Given the description of an element on the screen output the (x, y) to click on. 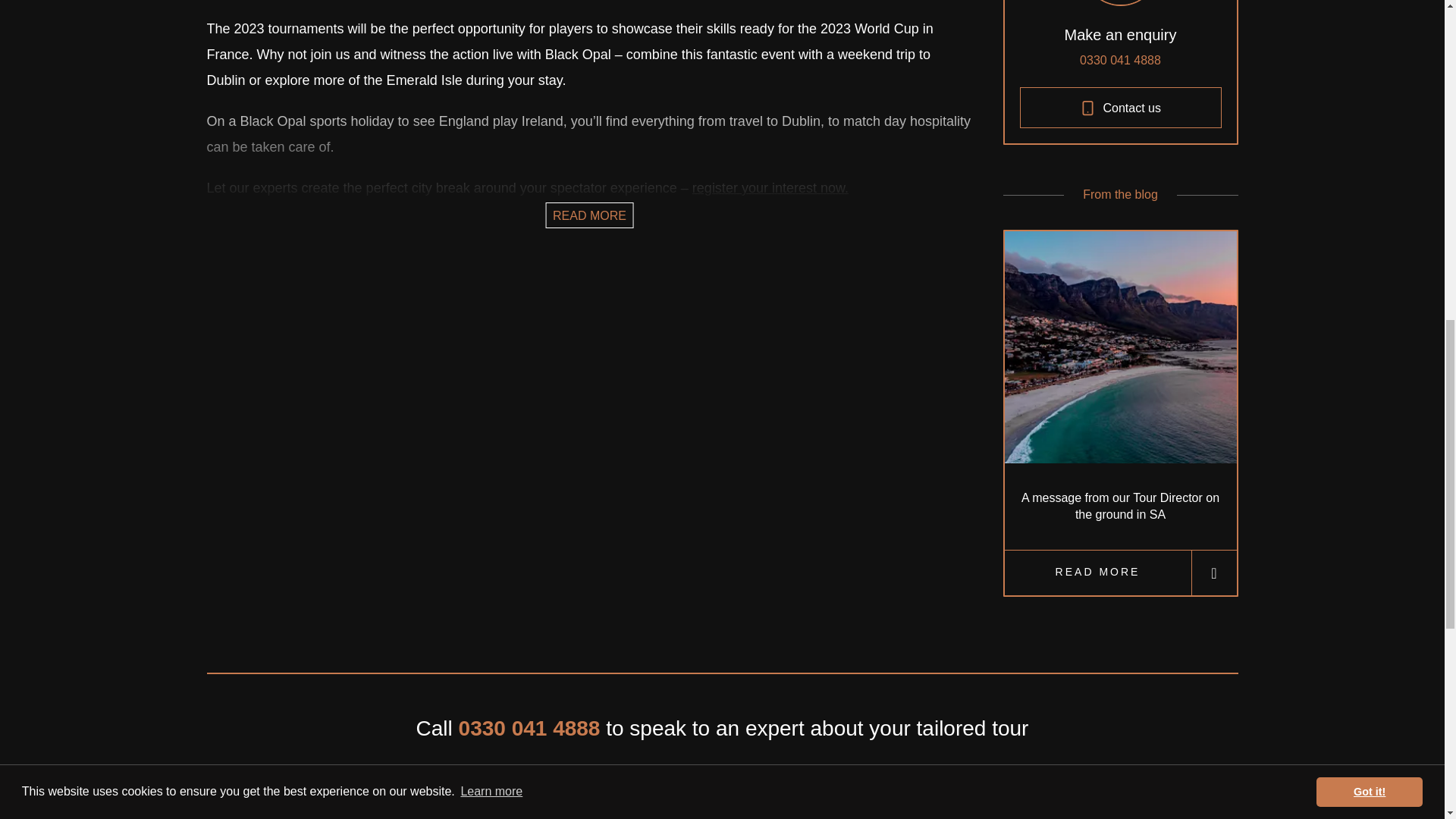
Contact (770, 187)
